Given the description of an element on the screen output the (x, y) to click on. 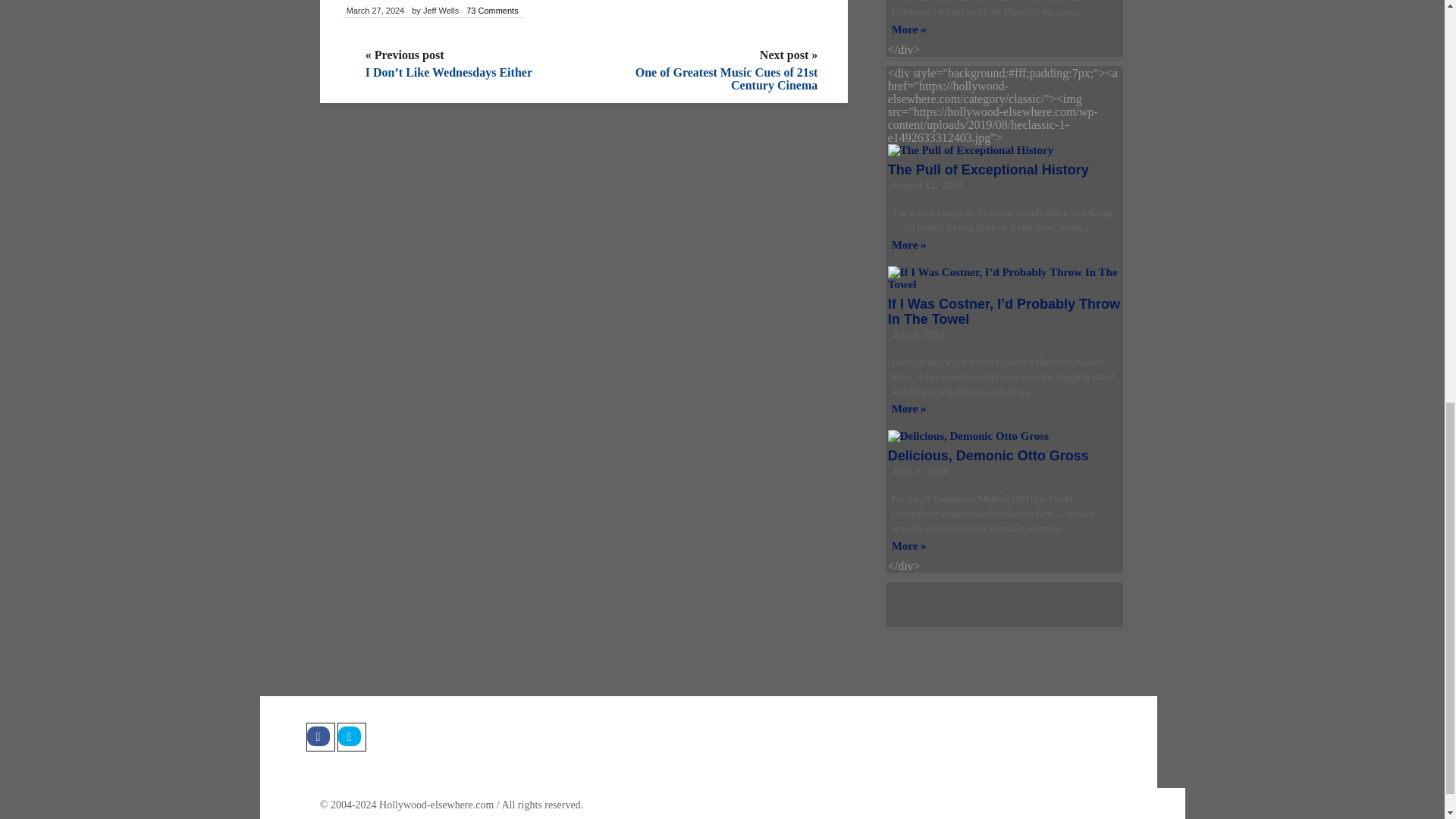
by Jeff Wells (435, 11)
March 27, 2024 (374, 11)
Facebook (319, 736)
73 Comments (492, 11)
Twitter (350, 736)
